Given the description of an element on the screen output the (x, y) to click on. 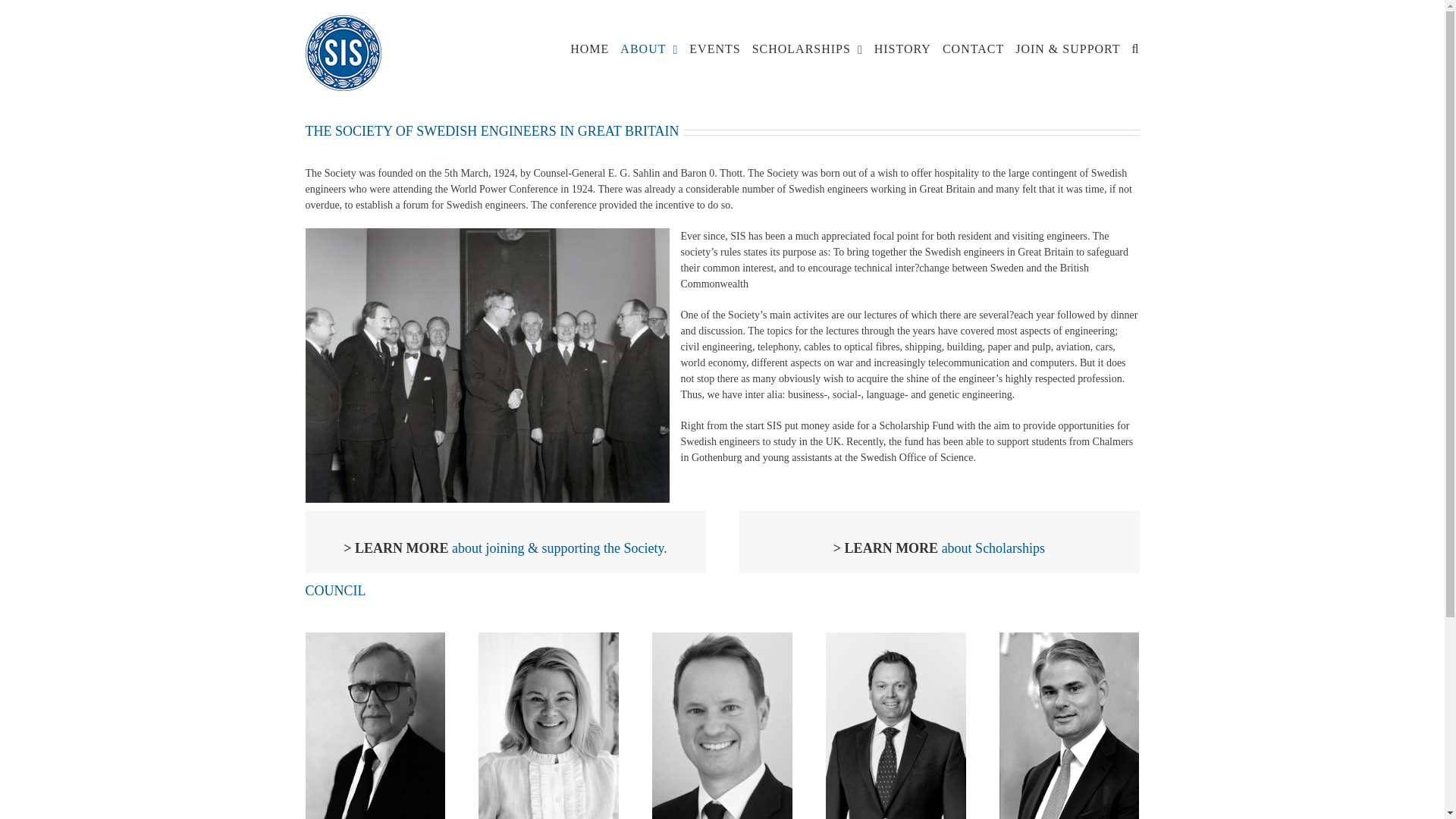
SCHOLARSHIPS (807, 49)
